Given the description of an element on the screen output the (x, y) to click on. 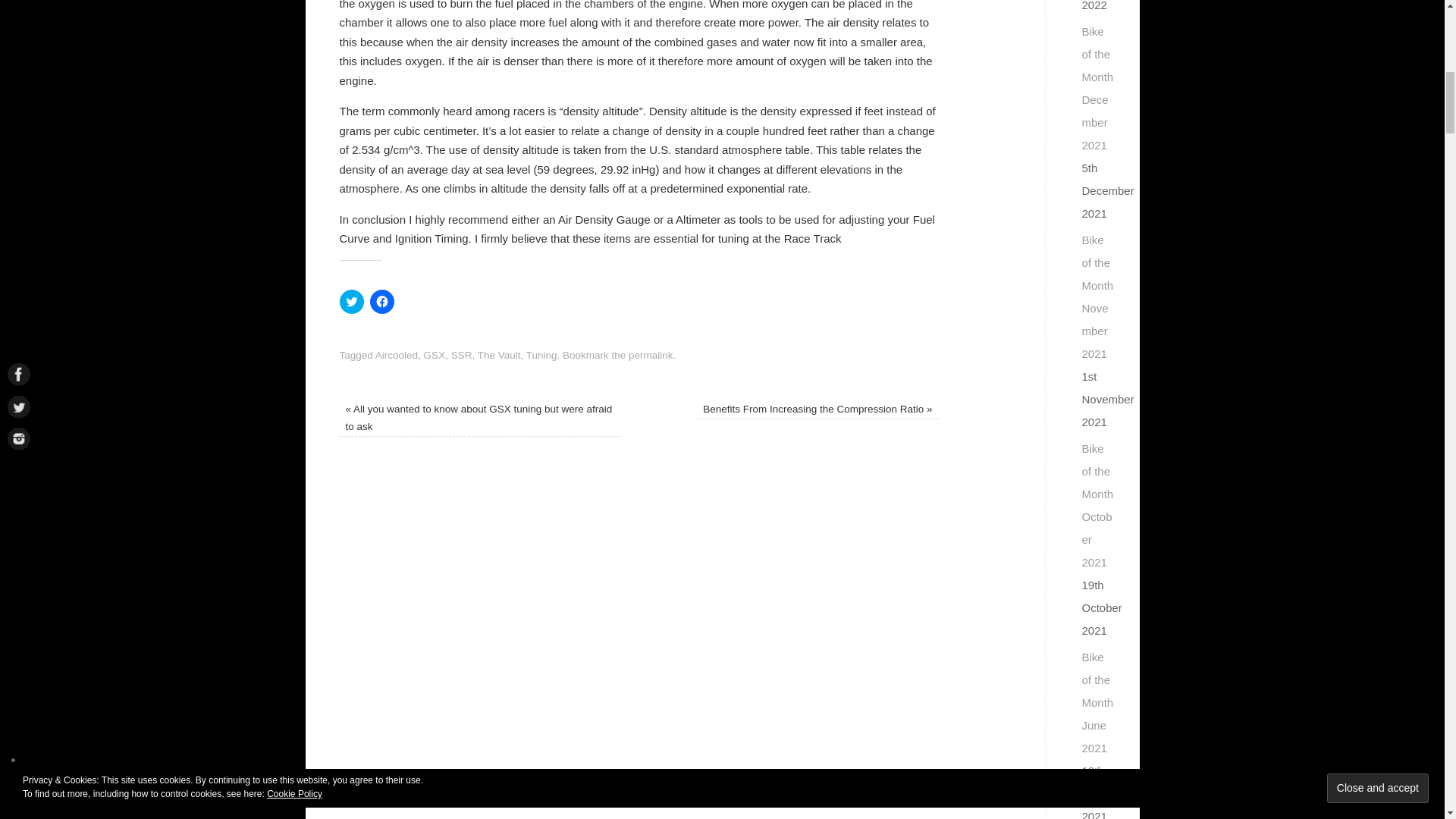
Aircooled (396, 355)
Click to share on Twitter (351, 301)
Tuning (541, 355)
Click to share on Facebook (381, 301)
The Vault (499, 355)
GSX (434, 355)
permalink (650, 355)
Permalink to Air density, a secret tuning factor (650, 355)
SSR (461, 355)
